Given the description of an element on the screen output the (x, y) to click on. 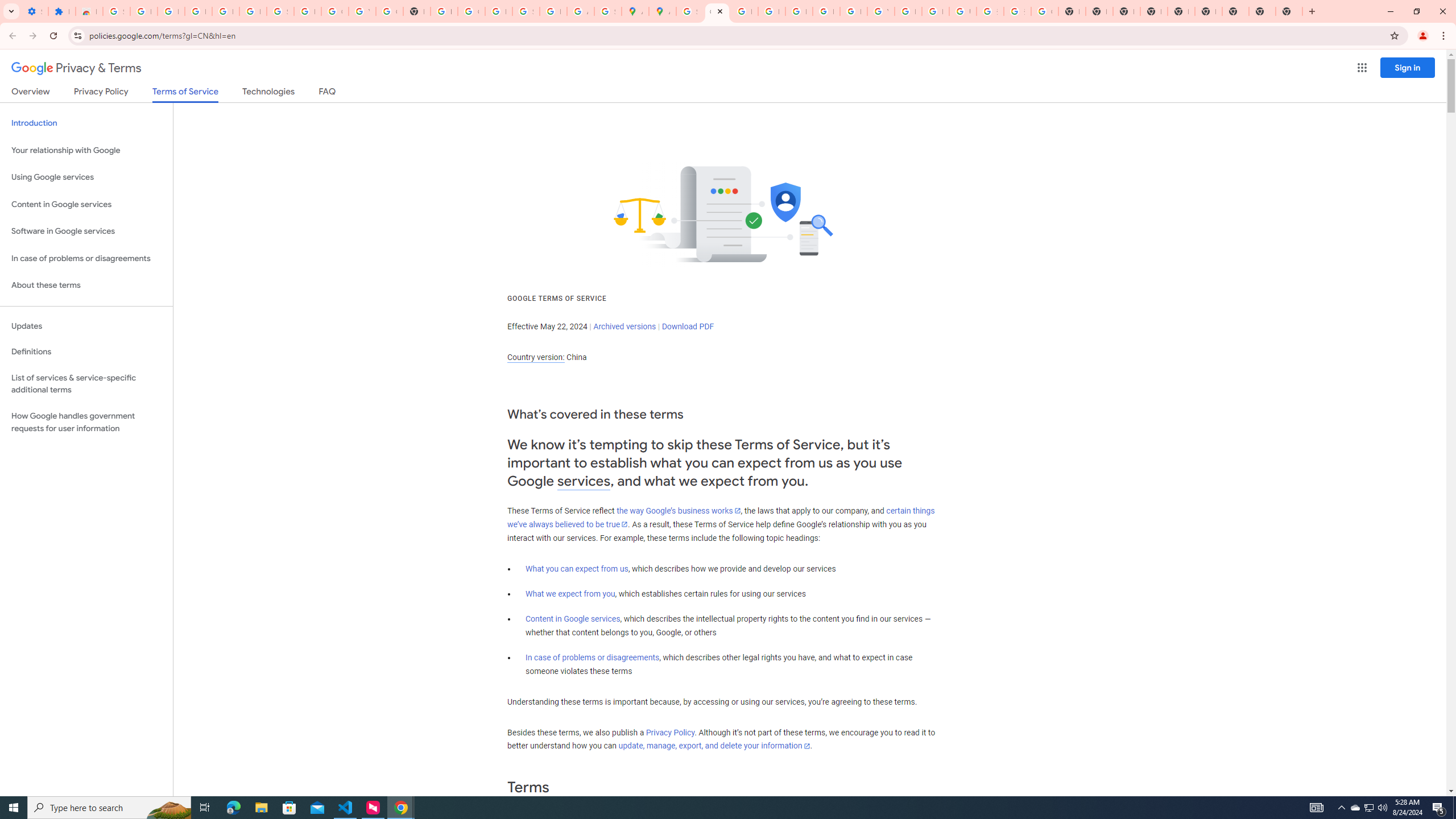
services (583, 480)
New Tab (1153, 11)
About these terms (86, 284)
Safety in Our Products - Google Safety Center (607, 11)
Introduction (86, 122)
